Given the description of an element on the screen output the (x, y) to click on. 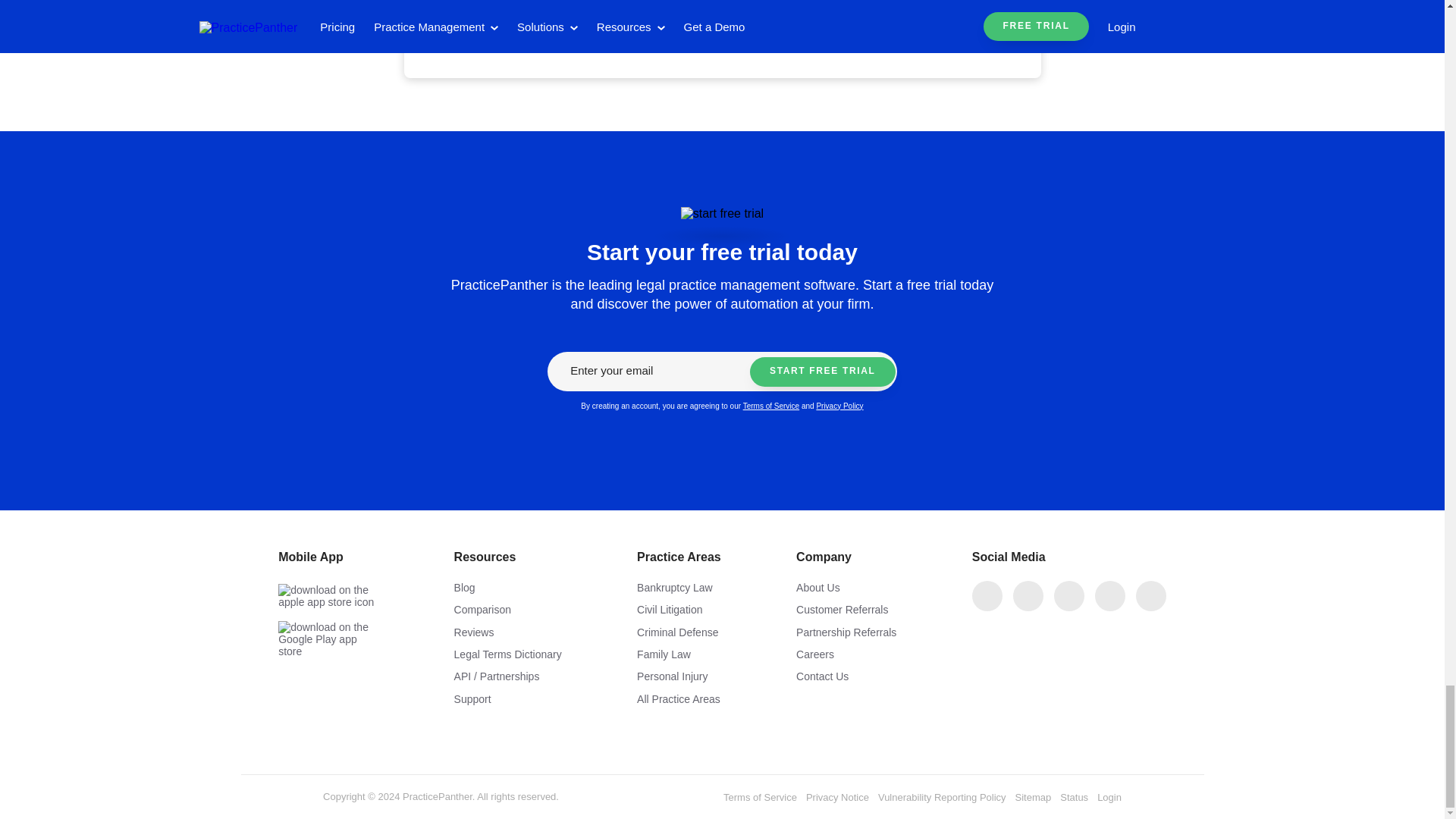
Start free trial (822, 371)
Subscribe (857, 12)
